Given the description of an element on the screen output the (x, y) to click on. 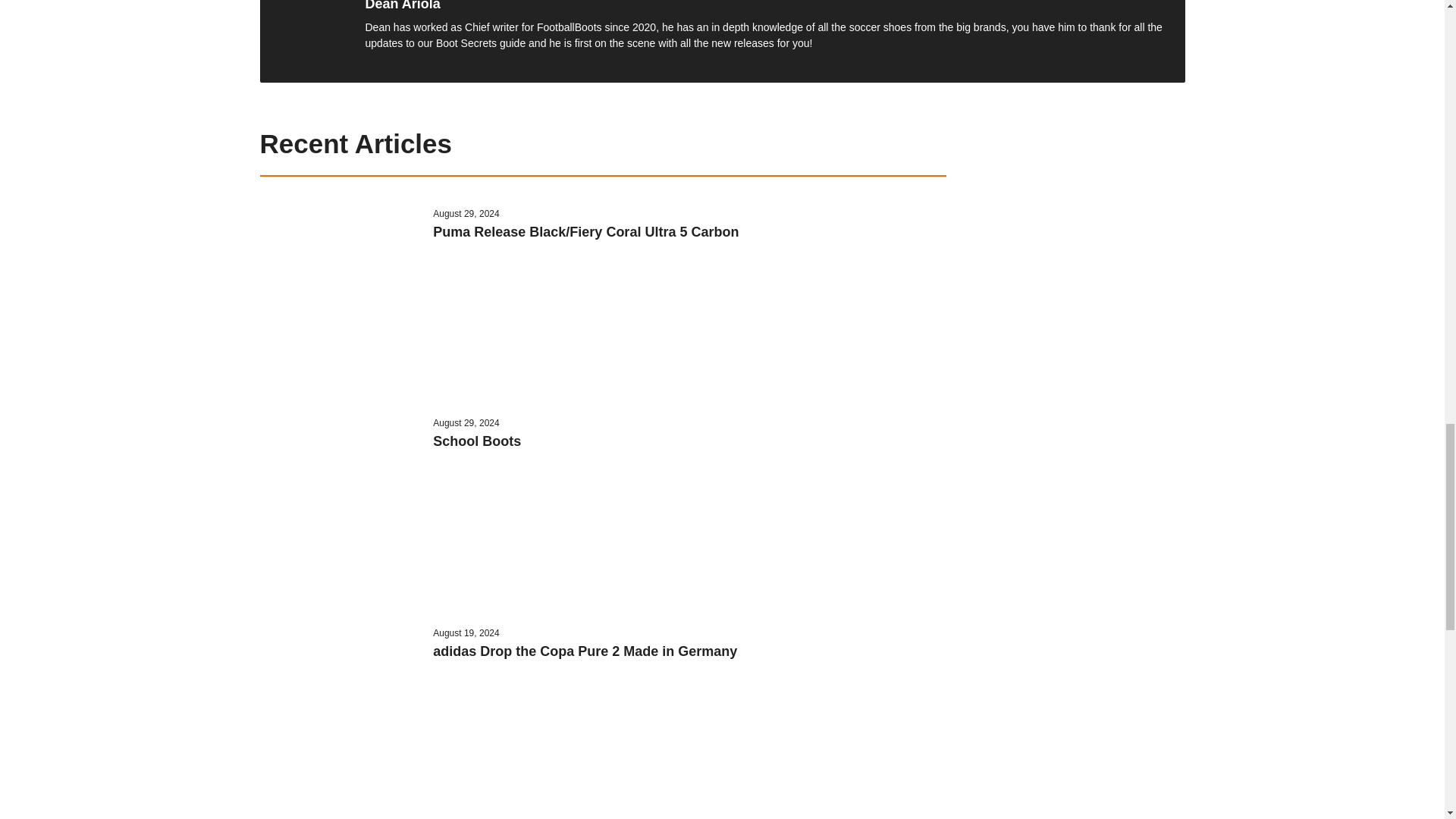
puma-blackredcarbon (342, 292)
adidas Drop the Copa Pure 2 Made in Germany (584, 651)
School Boots (476, 441)
Dean Ariola (403, 5)
adidas-copamig-2 (342, 710)
